Given the description of an element on the screen output the (x, y) to click on. 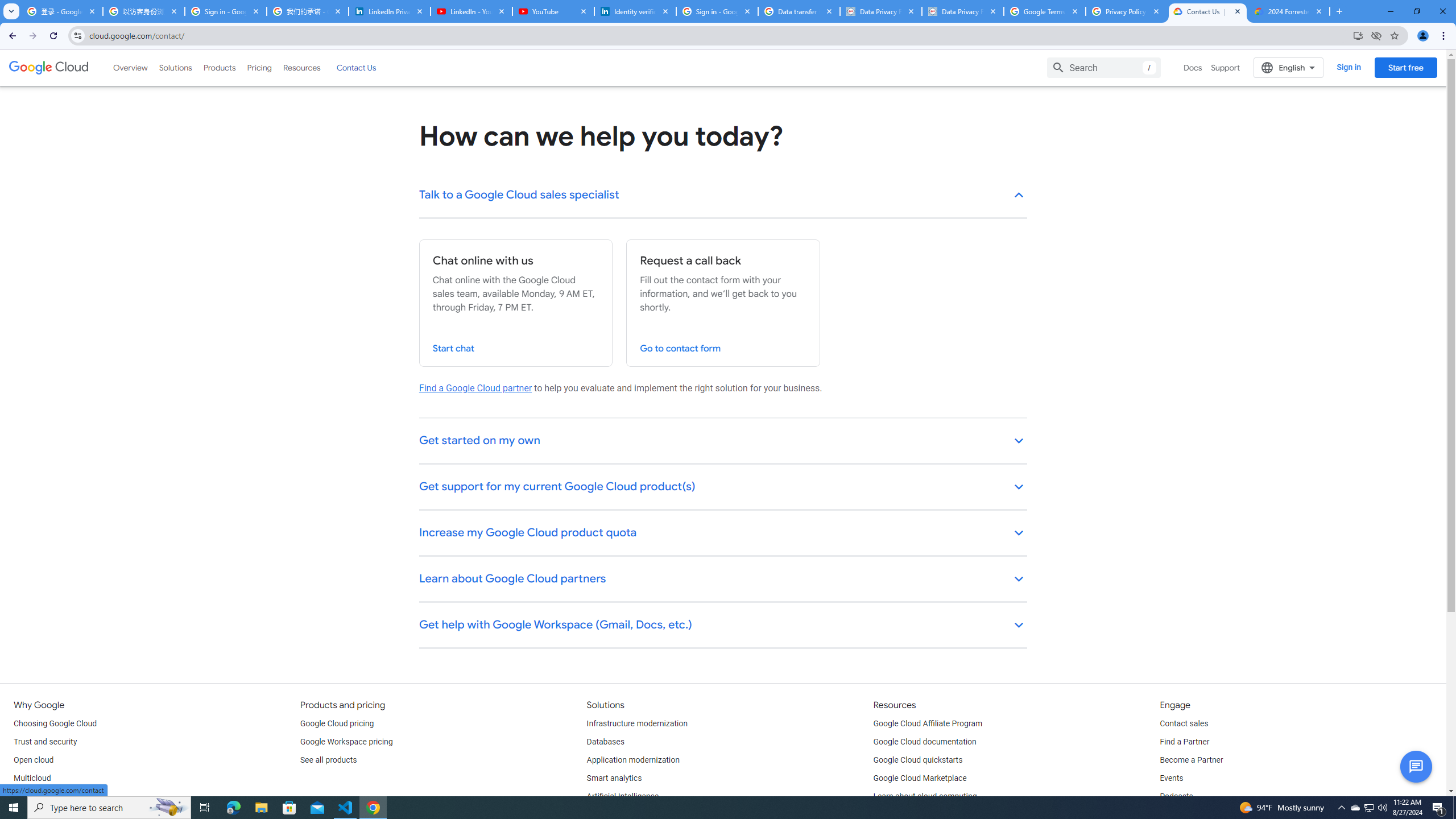
Learn about Google Cloud partners keyboard_arrow_down (723, 579)
Docs (1192, 67)
Pricing (259, 67)
Find a Google Cloud partner (475, 387)
Global infrastructure (49, 796)
Talk to a Google Cloud sales specialist keyboard_arrow_up (723, 195)
Open cloud (33, 760)
Choosing Google Cloud (55, 723)
Solutions (175, 67)
